Given the description of an element on the screen output the (x, y) to click on. 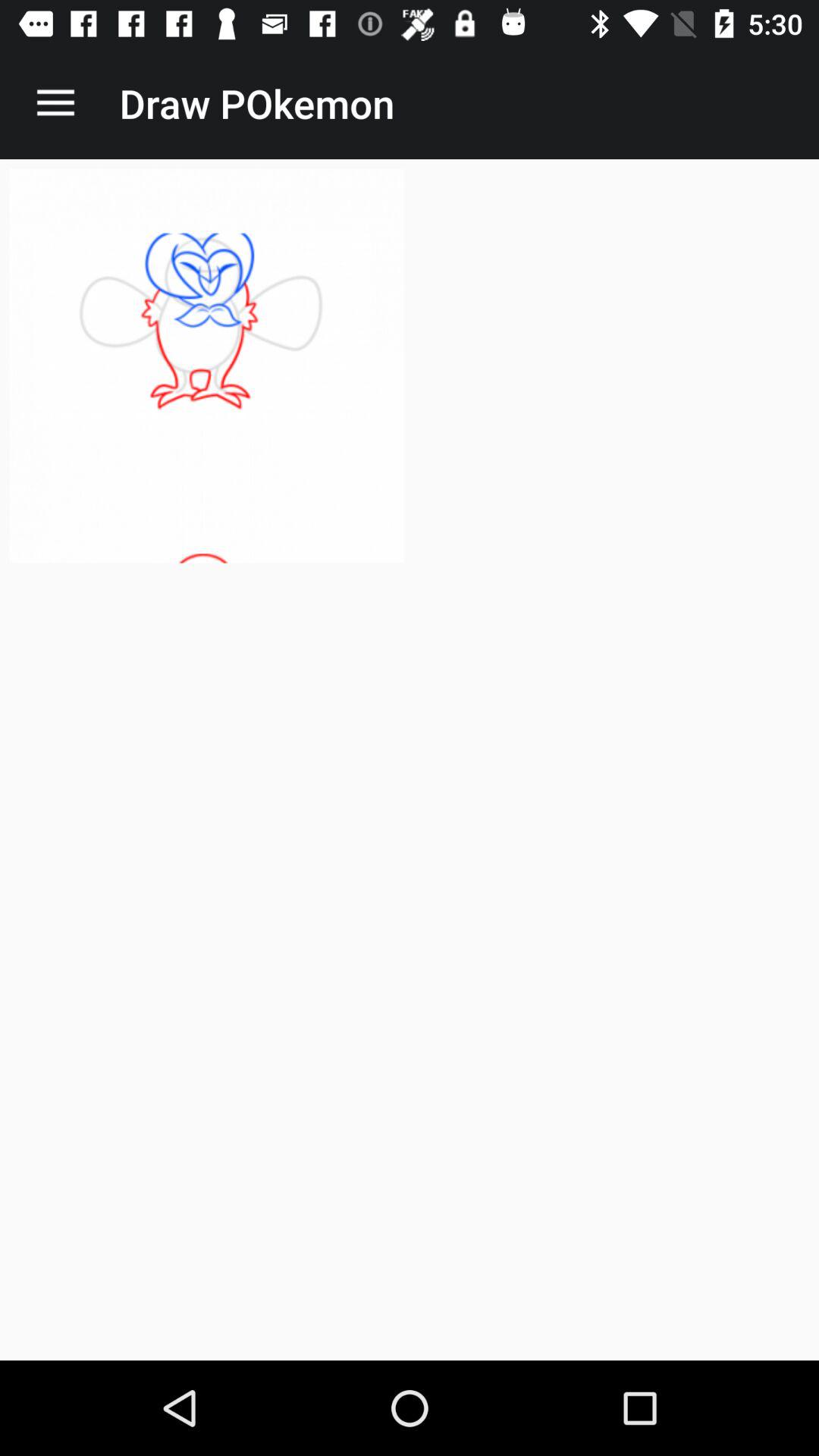
click app next to the draw pokemon app (55, 103)
